Given the description of an element on the screen output the (x, y) to click on. 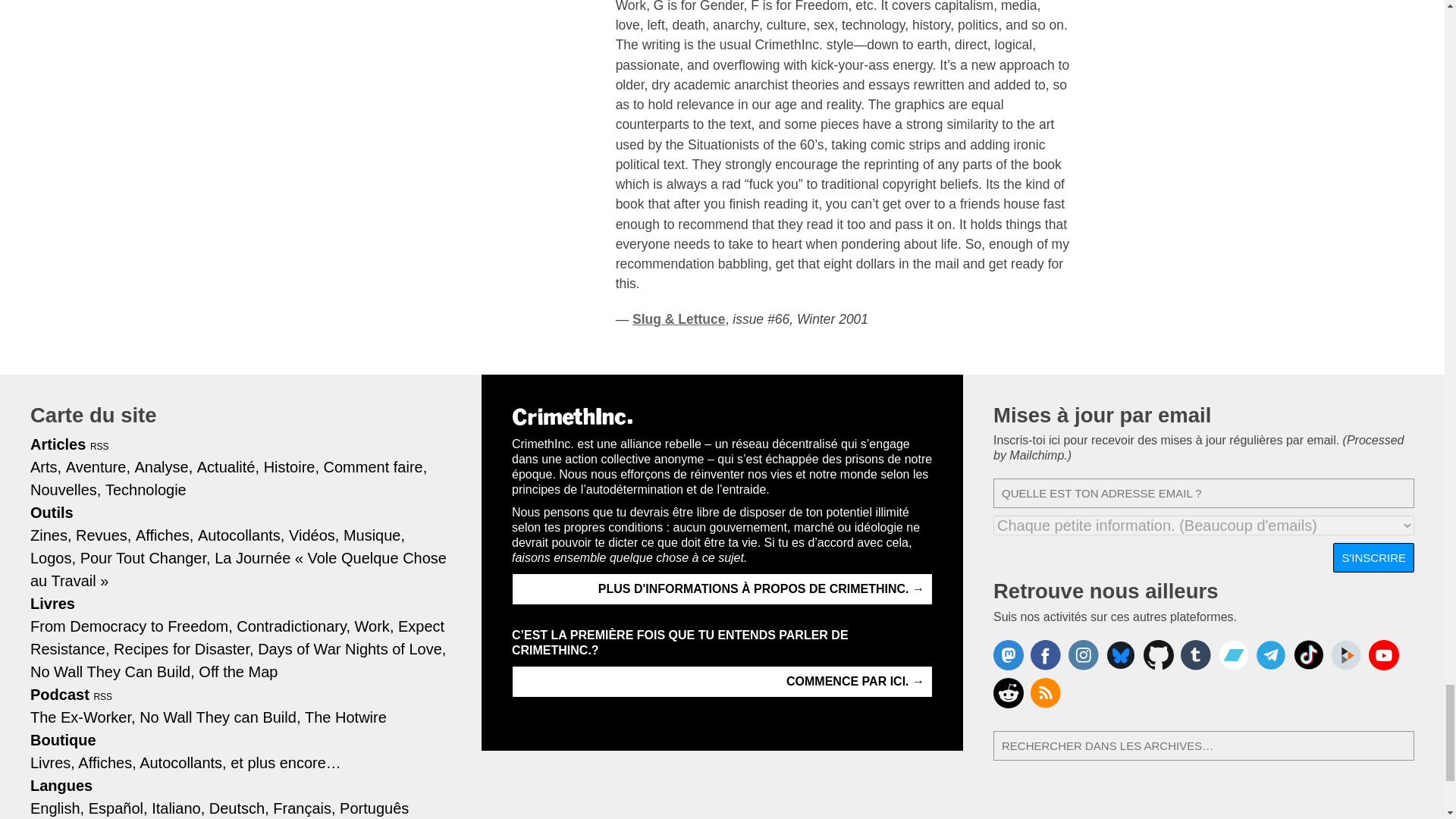
RSS (99, 446)
Comment faire (375, 466)
Analyse (164, 466)
Articles (57, 443)
Histoire (290, 466)
Arts (45, 466)
Aventure (98, 466)
